Given the description of an element on the screen output the (x, y) to click on. 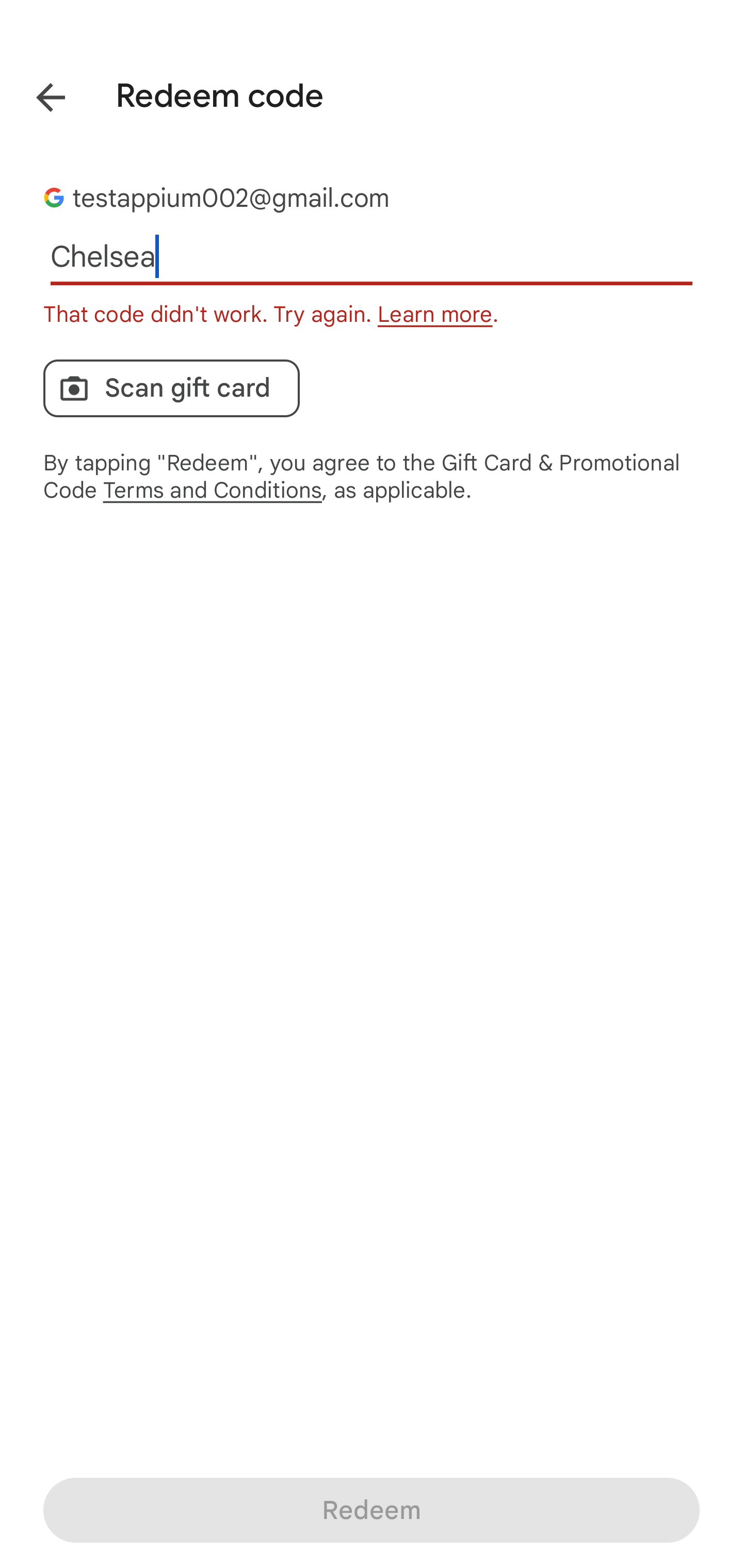
Back (36, 94)
Chelsea (371, 256)
Scan gift card (171, 388)
